Given the description of an element on the screen output the (x, y) to click on. 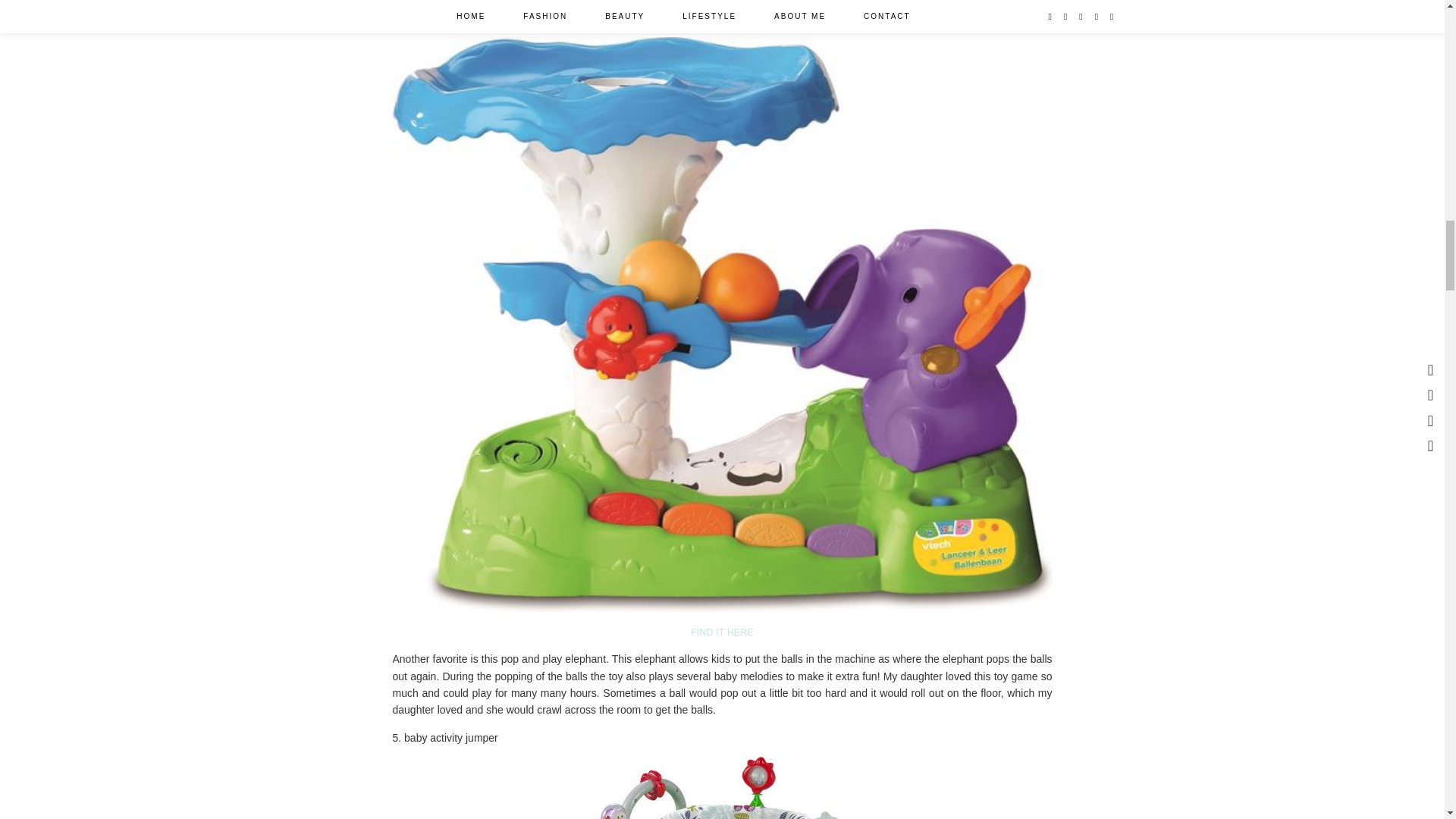
FIND IT HERE (721, 632)
